Given the description of an element on the screen output the (x, y) to click on. 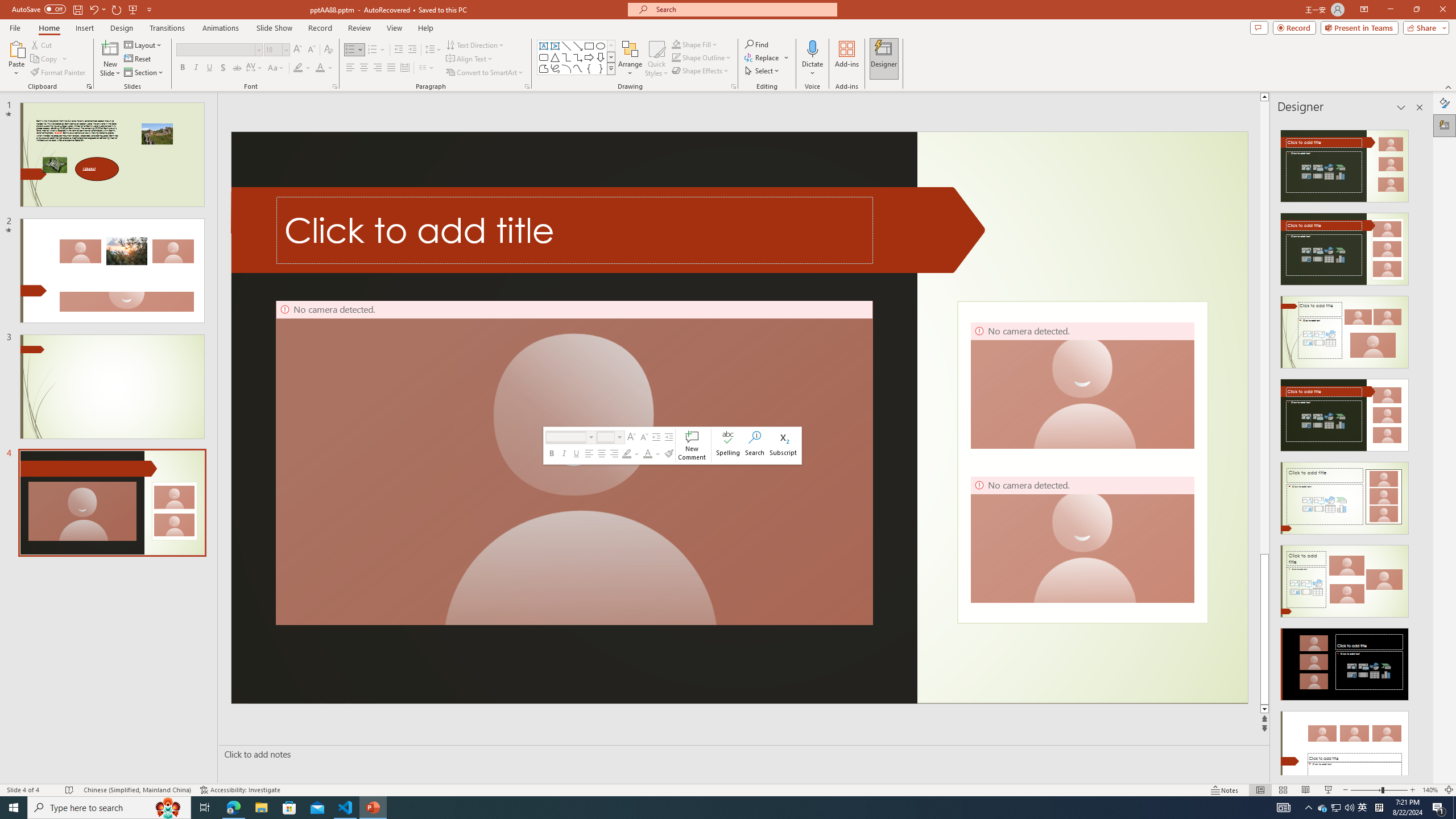
Line up (1264, 96)
Font Size (273, 49)
Design (122, 28)
Class: NetUIToolWindow (672, 445)
Zoom (1379, 790)
Title TextBox (574, 229)
AutoSave (38, 9)
Camera 5, No camera detected. (574, 462)
Save (77, 9)
Distributed (404, 67)
Quick Access Toolbar (82, 9)
Left Brace (589, 68)
Arc (566, 68)
Format Object... (733, 85)
New Comment (692, 445)
